Given the description of an element on the screen output the (x, y) to click on. 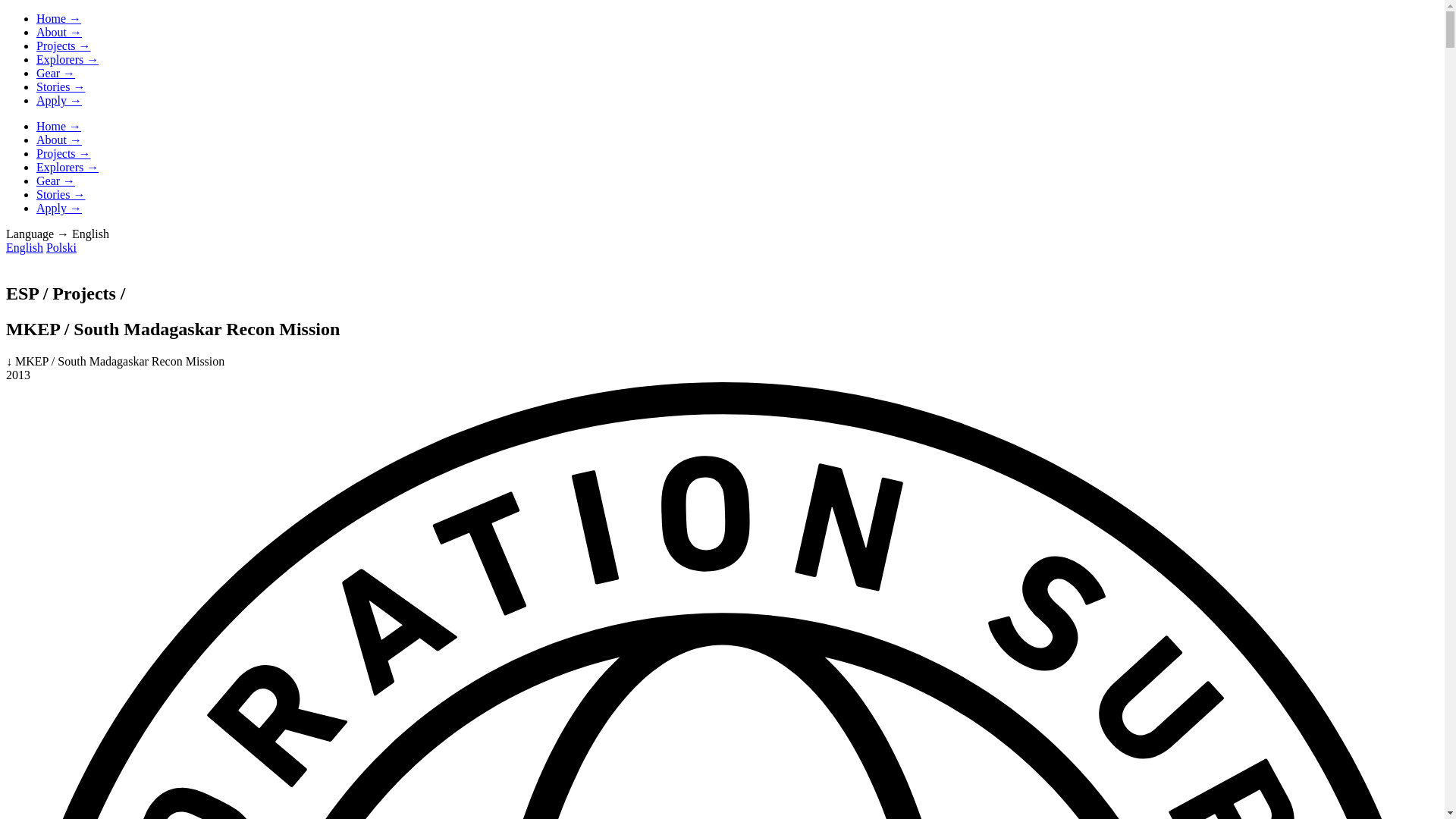
English (24, 246)
Polski (61, 246)
